Given the description of an element on the screen output the (x, y) to click on. 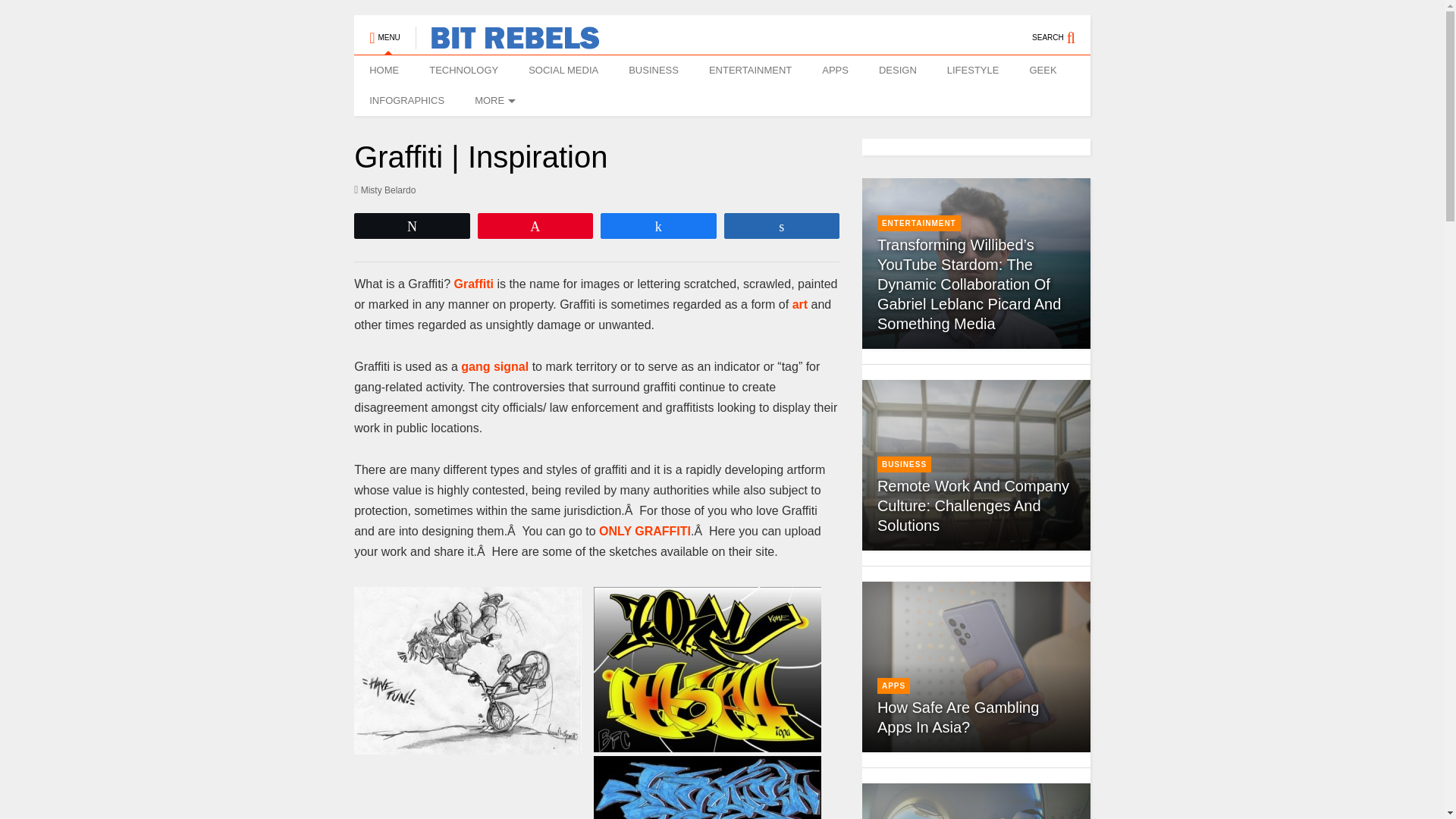
ENTERTAINMENT (750, 70)
SEARCH (1061, 30)
MENU (383, 30)
Art (800, 304)
INFOGRAPHICS (406, 100)
Gang signal (494, 366)
Misty Belardo (383, 190)
SOCIAL MEDIA (562, 70)
APPS (834, 70)
TECHNOLOGY (463, 70)
LIFESTYLE (972, 70)
Misty Belardo (383, 190)
DESIGN (897, 70)
BUSINESS (653, 70)
Bit Rebels (506, 42)
